Given the description of an element on the screen output the (x, y) to click on. 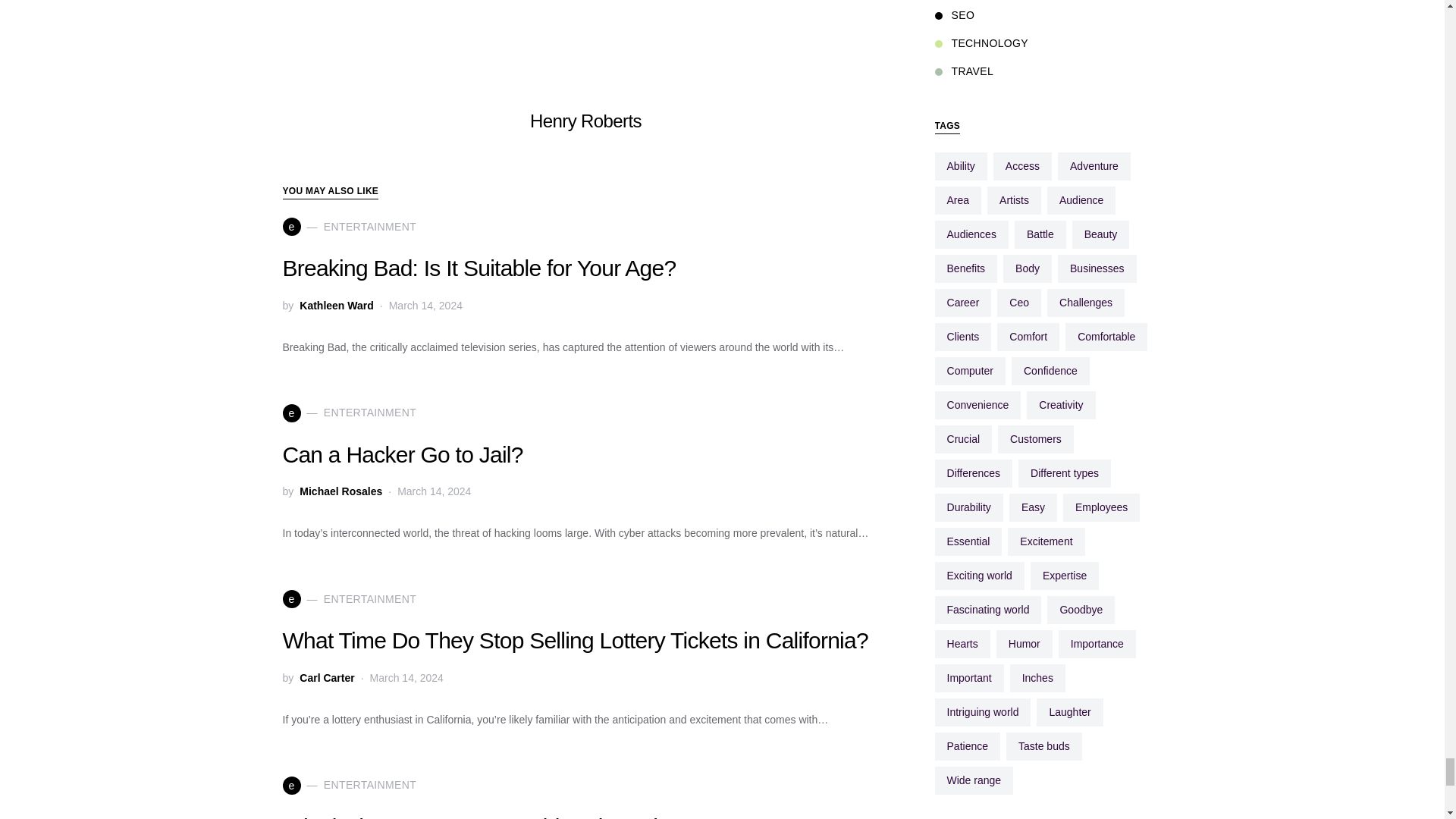
View all posts by Michael Rosales (340, 491)
View all posts by Carl Carter (326, 677)
View all posts by Kathleen Ward (336, 304)
